Given the description of an element on the screen output the (x, y) to click on. 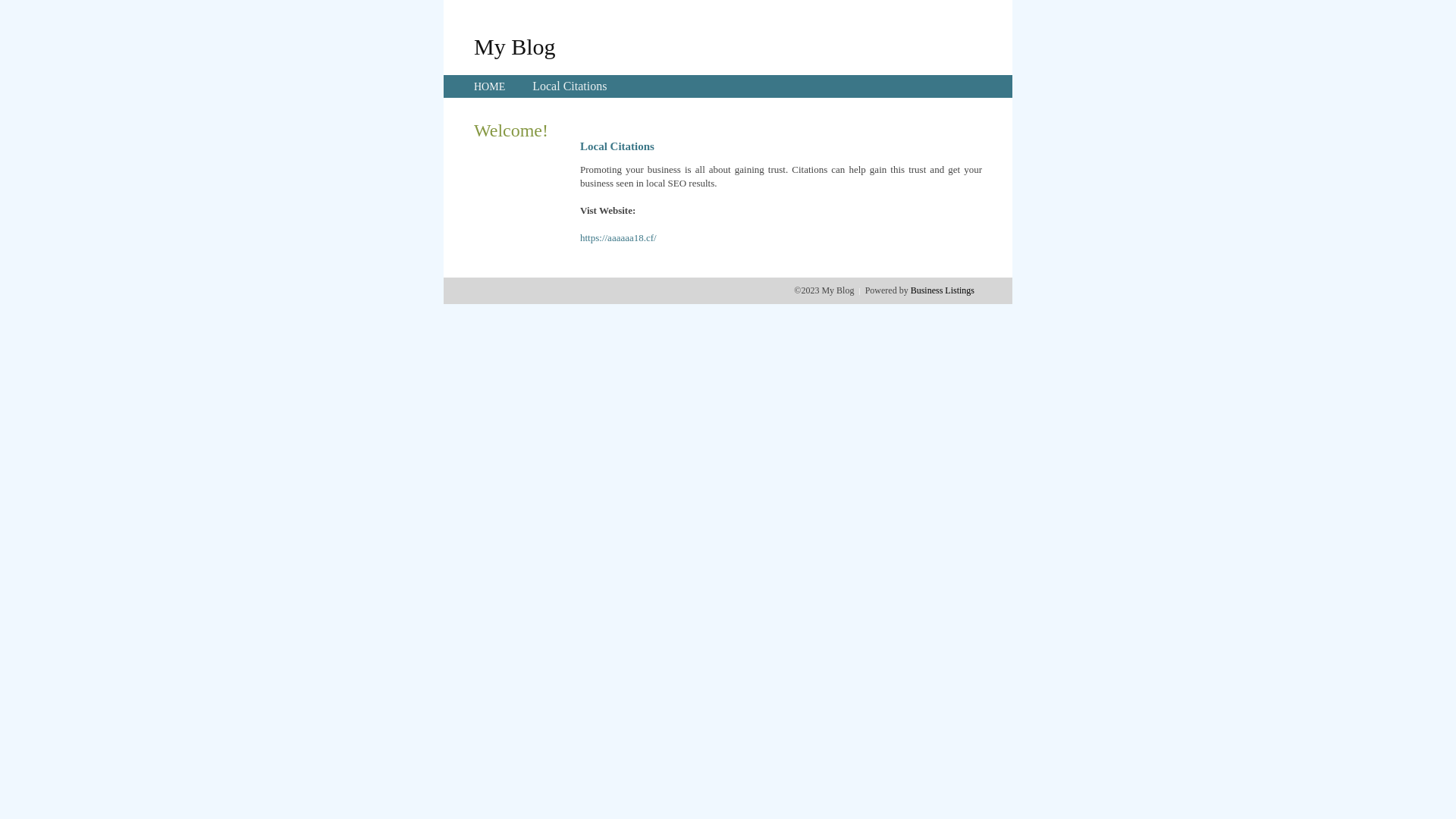
My Blog Element type: text (514, 46)
https://aaaaaa18.cf/ Element type: text (618, 237)
Business Listings Element type: text (942, 290)
HOME Element type: text (489, 86)
Local Citations Element type: text (569, 85)
